Given the description of an element on the screen output the (x, y) to click on. 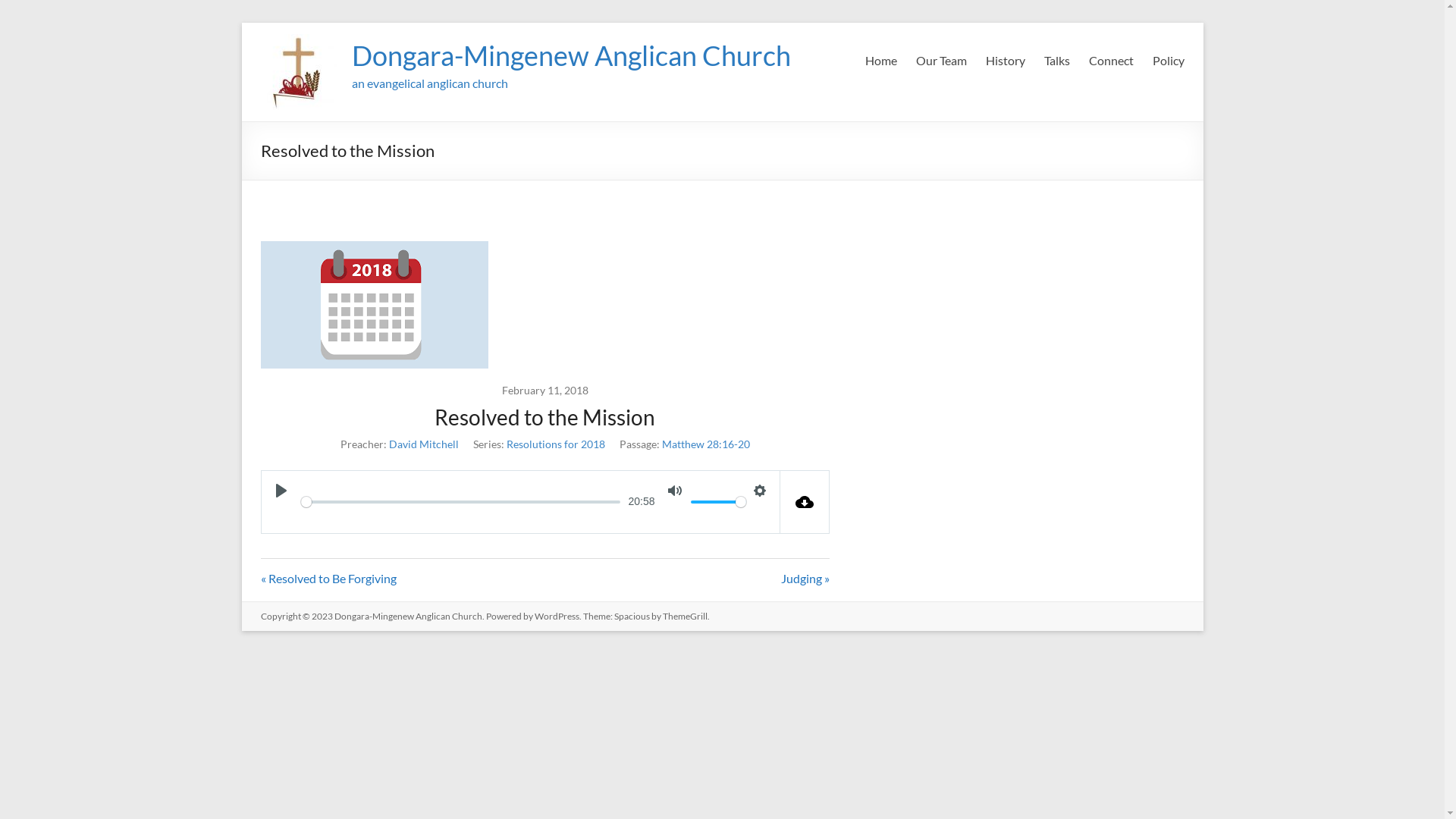
Dongara-Mingenew Anglican Church Element type: text (570, 55)
Settings Element type: text (759, 490)
History Element type: text (1005, 60)
Download Audio File Element type: hover (803, 501)
David Mitchell Element type: text (423, 443)
Matthew 28:16-20 Element type: text (705, 443)
Play Element type: text (280, 490)
Home Element type: text (880, 60)
Mute Element type: text (674, 490)
Talks Element type: text (1056, 60)
ThemeGrill Element type: text (684, 615)
Dongara-Mingenew Anglican Church Element type: text (407, 615)
Skip to content Element type: text (241, 21)
WordPress Element type: text (555, 615)
Connect Element type: text (1110, 60)
Our Team Element type: text (941, 60)
Resolutions for 2018 Element type: text (555, 443)
Policy Element type: text (1168, 60)
